Given the description of an element on the screen output the (x, y) to click on. 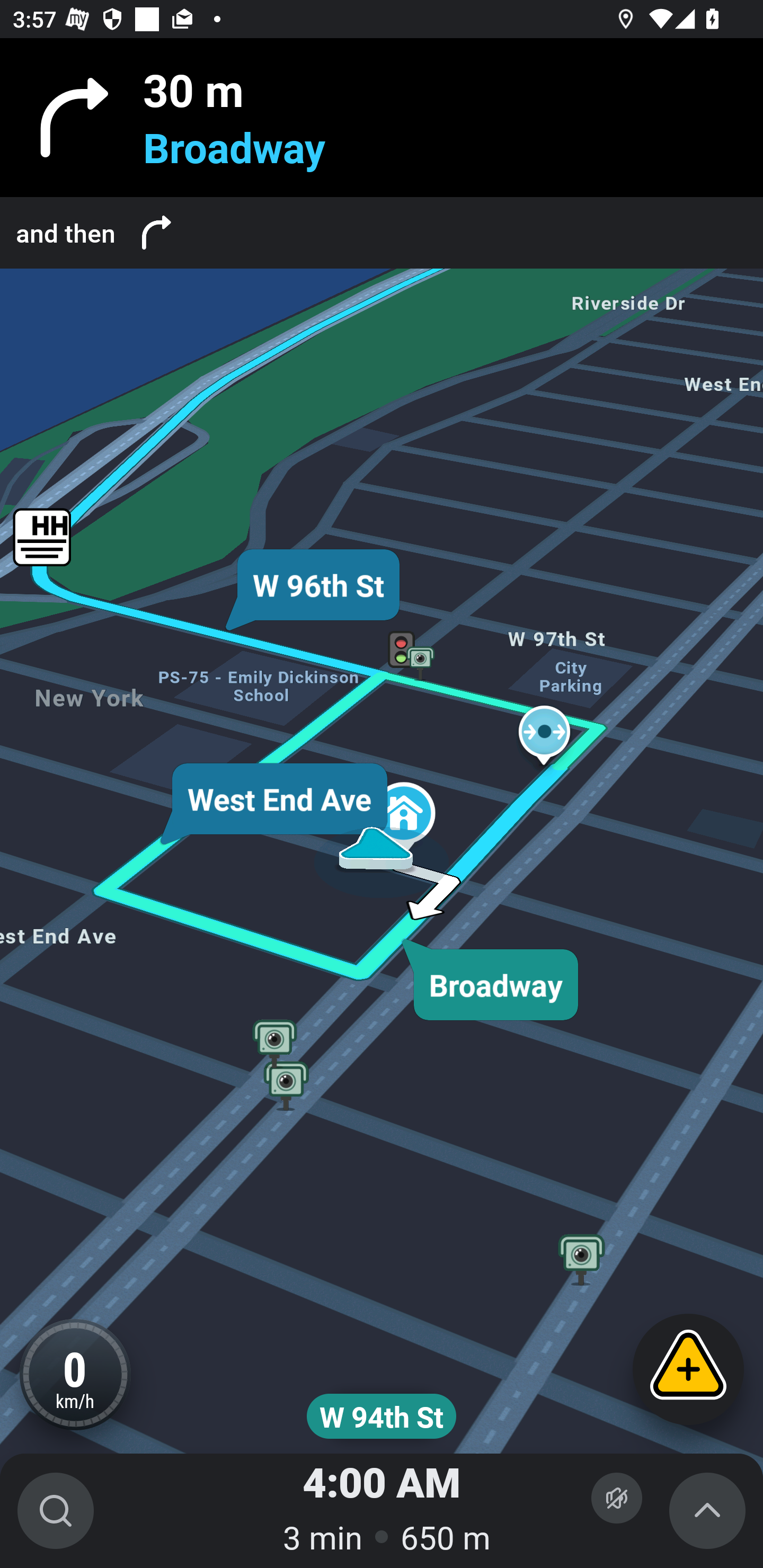
30 m Broadway (381, 117)
4:00 AM 3 min 650 m (381, 1510)
